Given the description of an element on the screen output the (x, y) to click on. 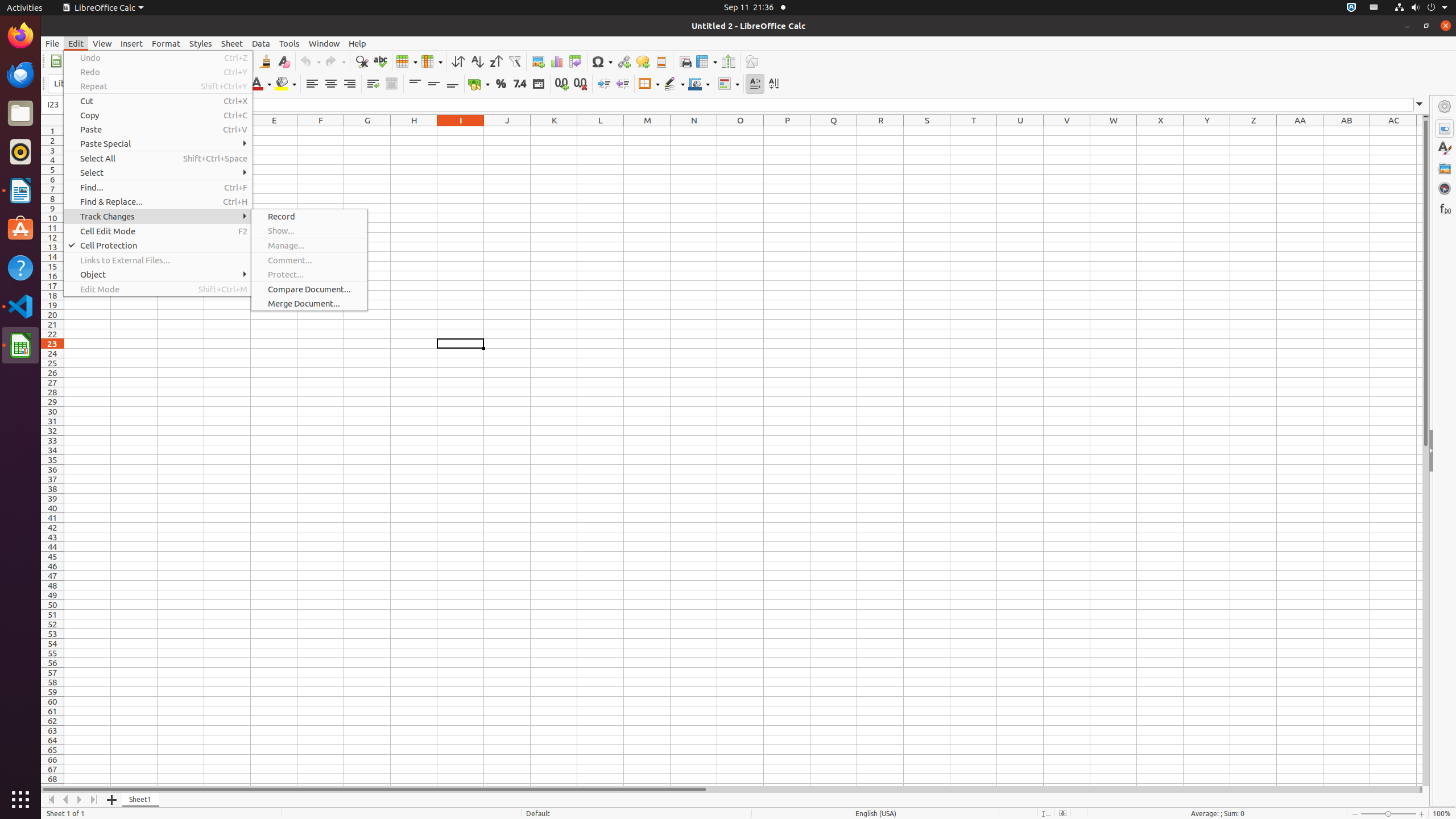
Draw Functions Element type: toggle-button (751, 61)
Manage... Element type: menu-item (309, 245)
Align Right Element type: push-button (349, 83)
R1 Element type: table-cell (880, 130)
Repeat Element type: menu-item (157, 86)
